Given the description of an element on the screen output the (x, y) to click on. 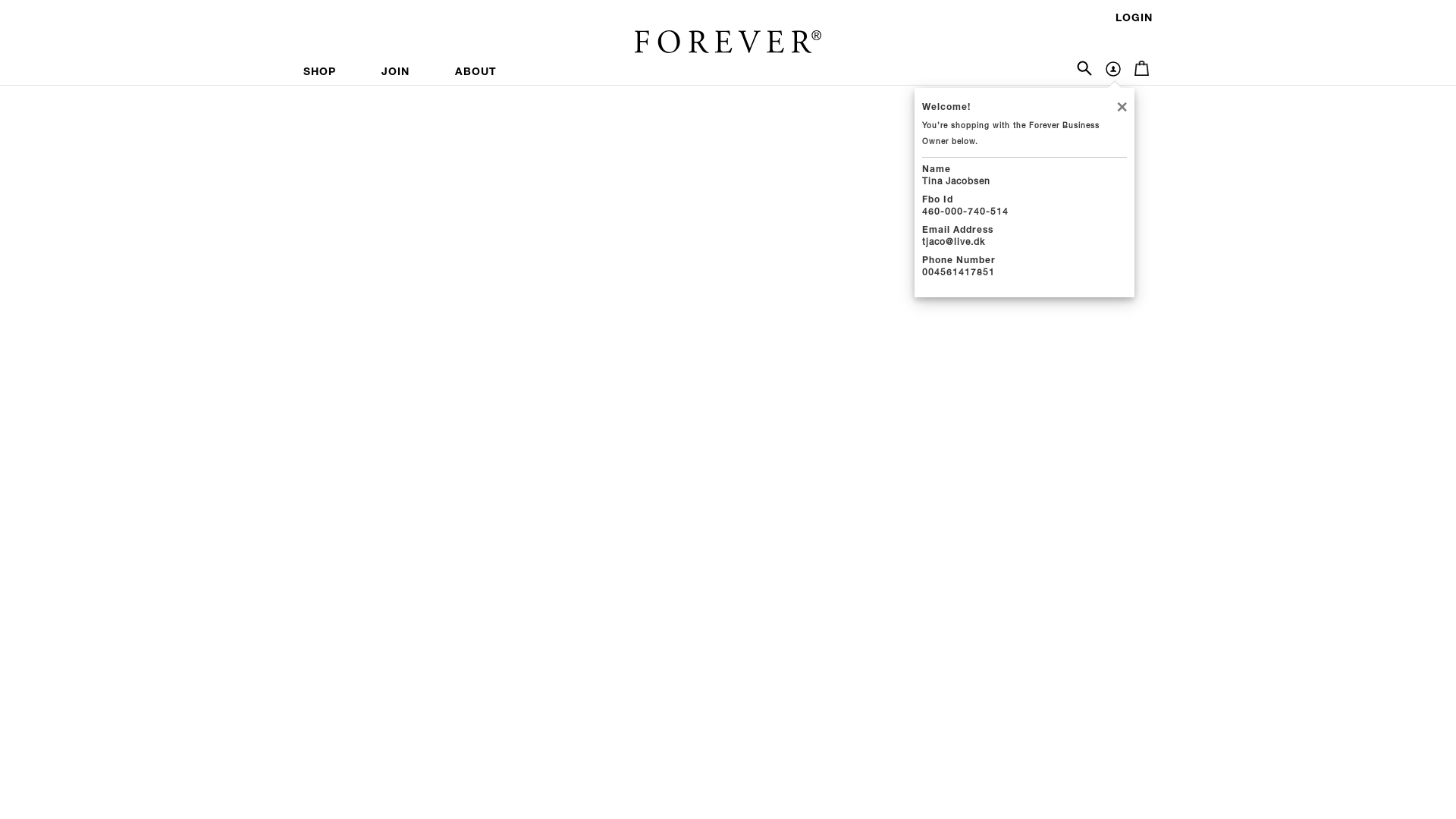
ABOUT Element type: text (475, 72)
JOIN Element type: text (395, 72)
SHOP Element type: text (330, 72)
LOGIN Element type: text (1133, 18)
